Given the description of an element on the screen output the (x, y) to click on. 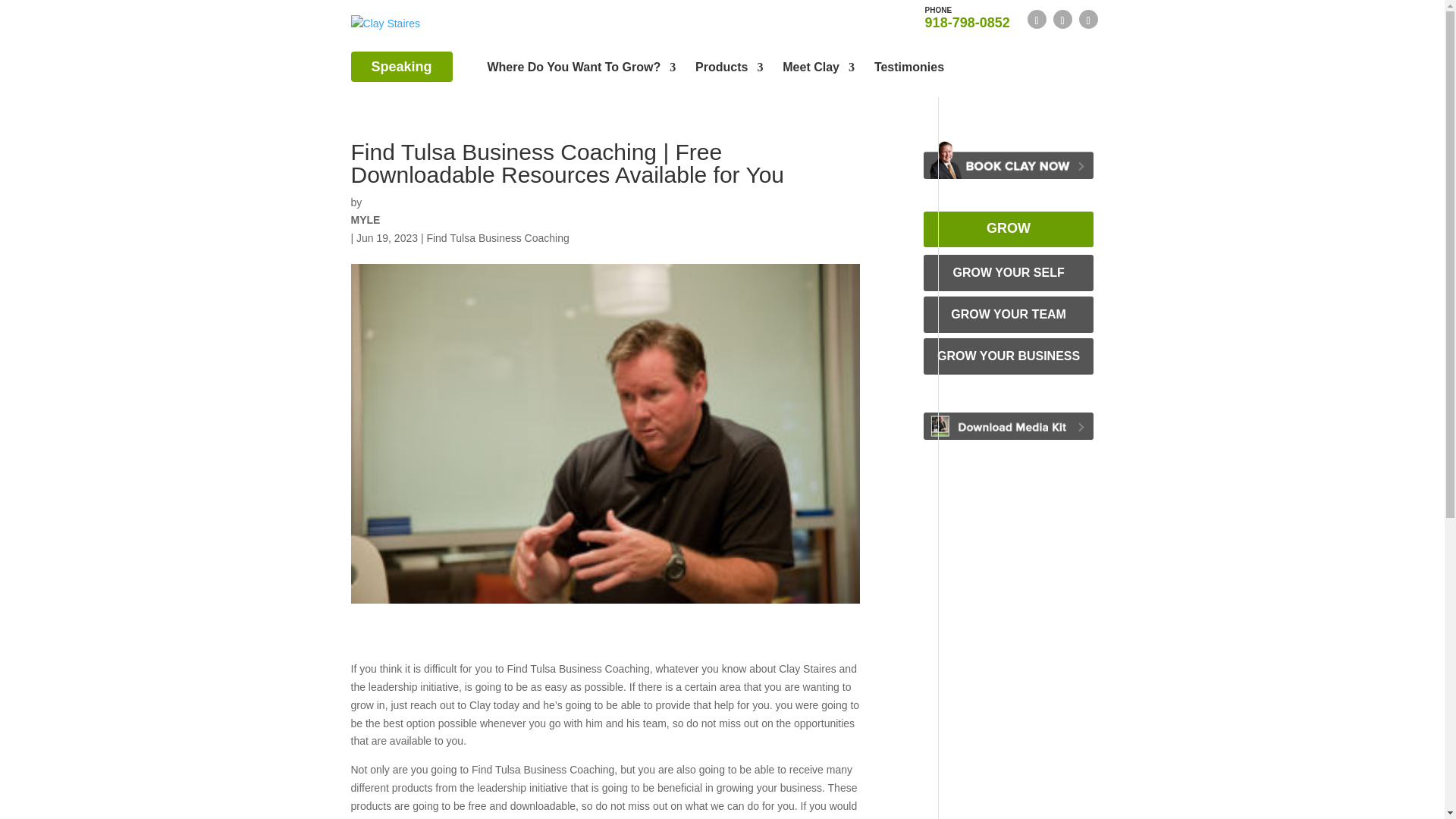
Where Do You Want To Grow? (580, 69)
GROW YOUR SELF (1008, 272)
Speaking (400, 66)
Meet Clay (818, 69)
MYLE (967, 16)
GROW YOUR BUSINESS (365, 219)
Find Tulsa Business Coaching (1008, 356)
GROW (497, 237)
Products (1008, 229)
Testimonies (728, 69)
GROW YOUR TEAM (909, 69)
Posts by MYLE (1008, 314)
